Given the description of an element on the screen output the (x, y) to click on. 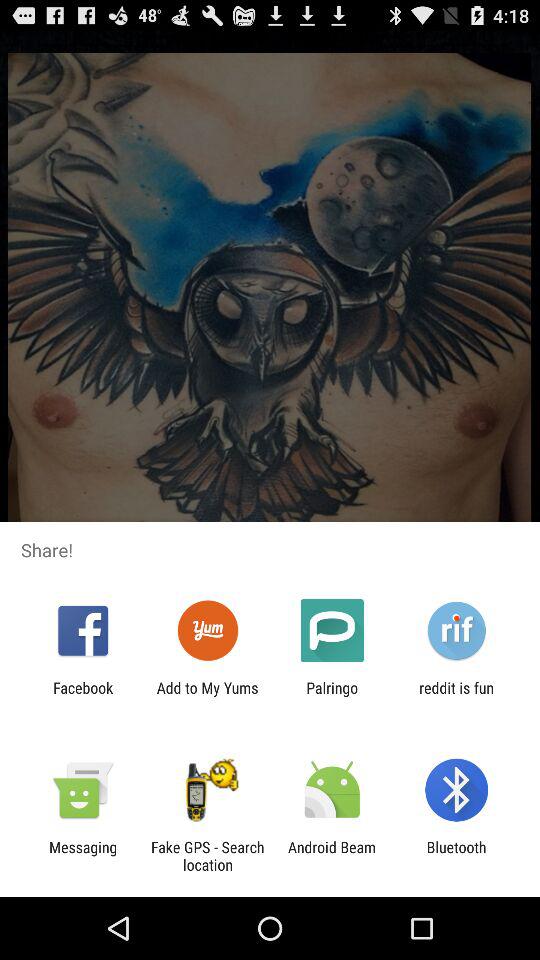
flip to the messaging item (83, 856)
